Given the description of an element on the screen output the (x, y) to click on. 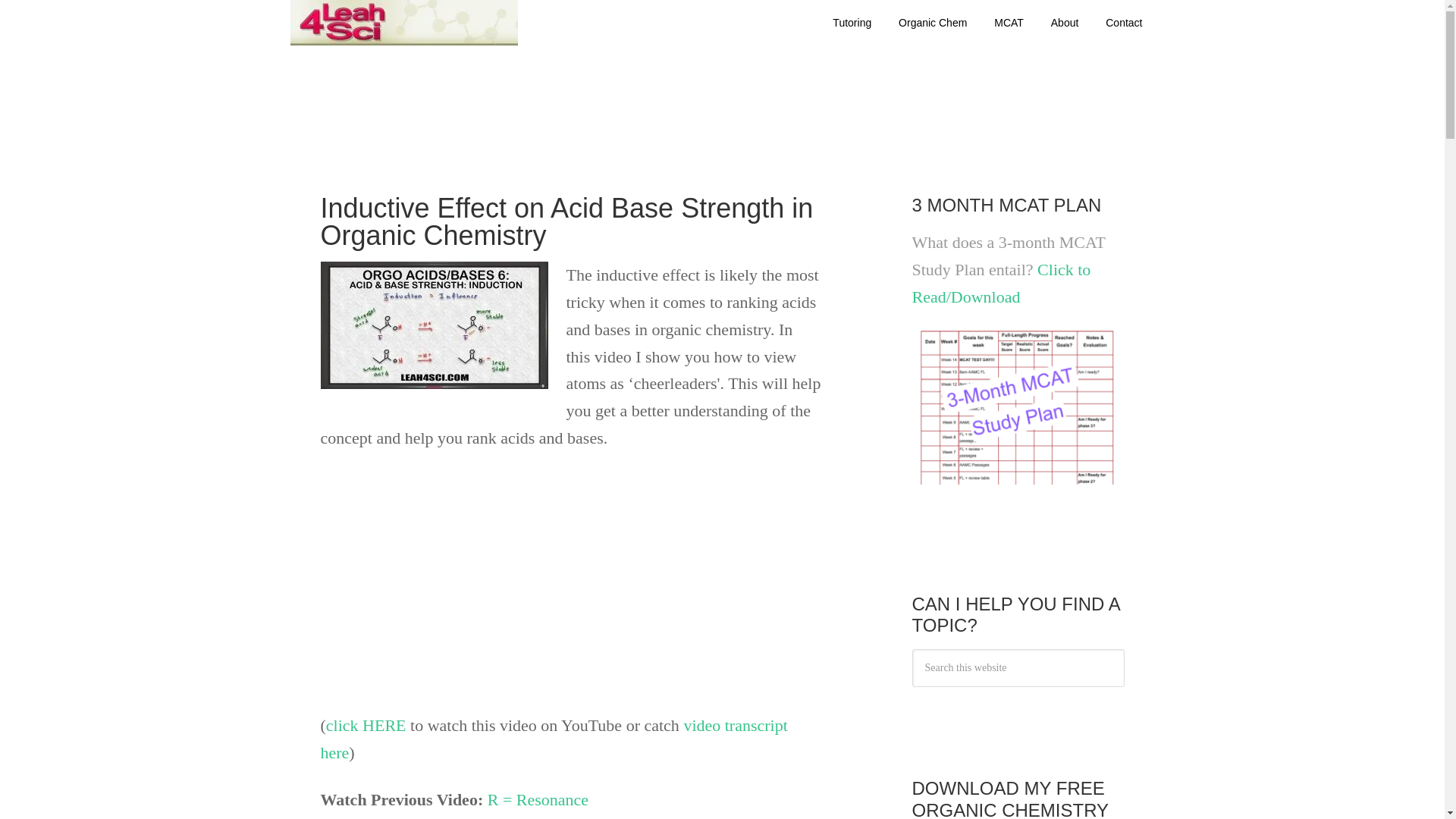
MCAT (1008, 22)
Inductive Effect on Acidity in Organic Chemistry Vid 6 (509, 577)
About (1064, 22)
Organic Chem (932, 22)
Contact (1123, 22)
click HERE (366, 724)
inductive effect on acid base strength youtube video (366, 724)
Tutoring (852, 22)
video transcript here (553, 738)
